Given the description of an element on the screen output the (x, y) to click on. 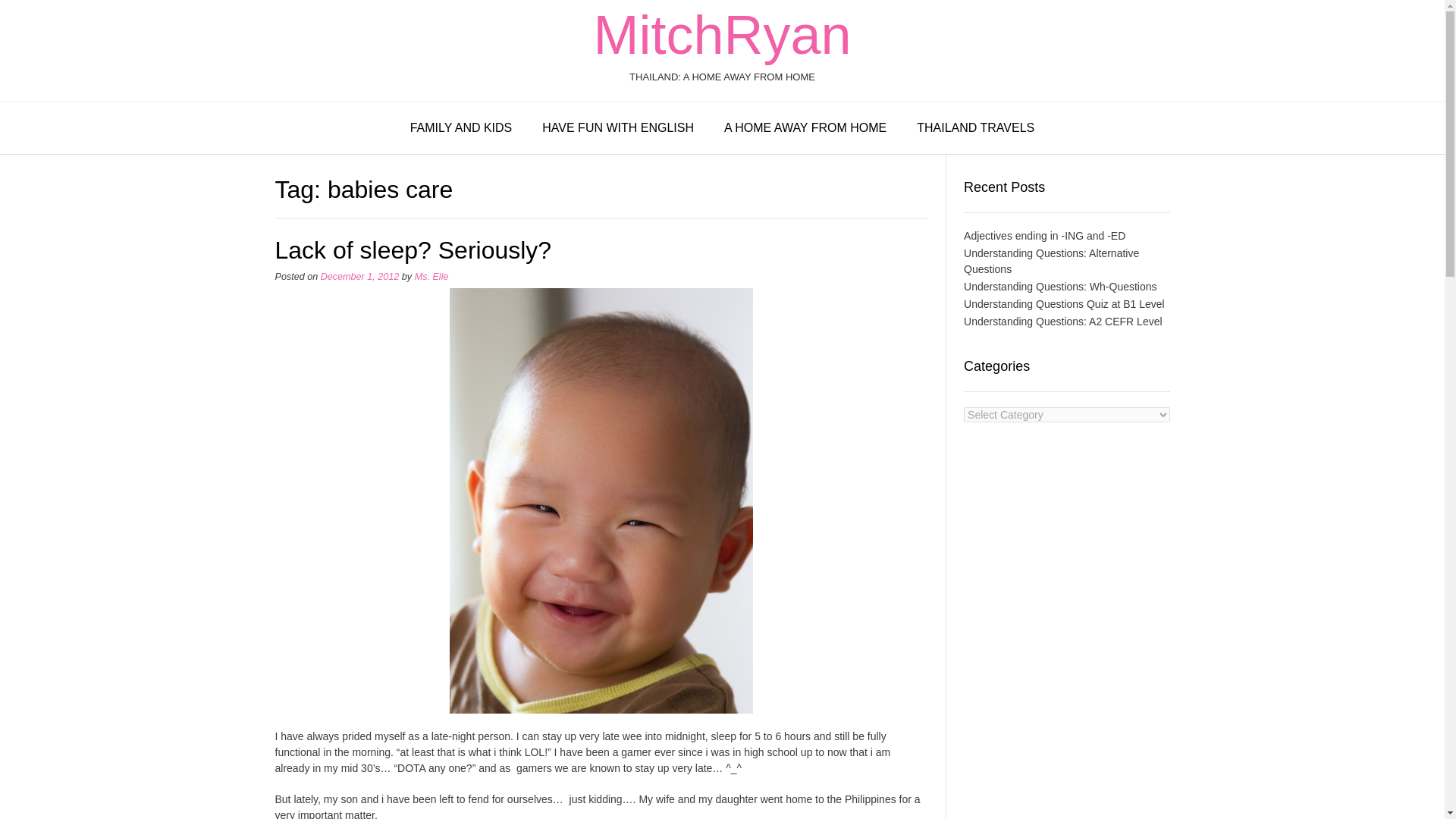
THAILAND TRAVELS (975, 128)
Understanding Questions: Wh-Questions (1059, 286)
Understanding Questions: Alternative Questions (1050, 261)
FAMILY AND KIDS (460, 128)
MitchRyan (721, 34)
Lack of sleep? Seriously? (413, 249)
Adjectives ending in -ING and -ED (1044, 235)
Understanding Questions: A2 CEFR Level (1062, 321)
HAVE FUN WITH ENGLISH (618, 128)
A HOME AWAY FROM HOME (805, 128)
